Given the description of an element on the screen output the (x, y) to click on. 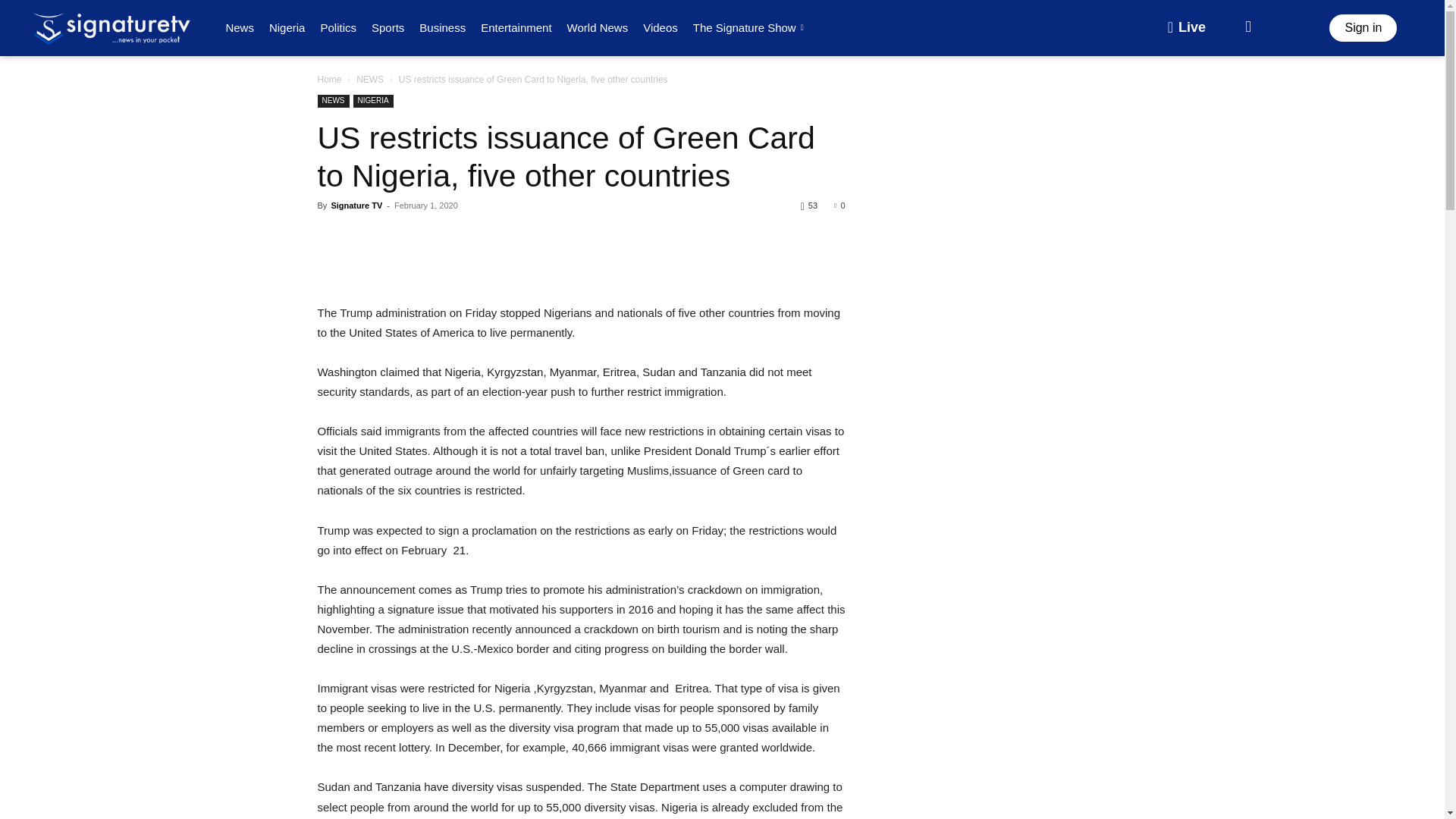
Sign in (1362, 27)
Entertainment (516, 27)
The Signature Show (750, 27)
News (239, 27)
Live (1186, 28)
Nigeria (287, 27)
Videos (659, 27)
Politics (338, 27)
View all posts in NEWS (370, 79)
World News (597, 27)
